Given the description of an element on the screen output the (x, y) to click on. 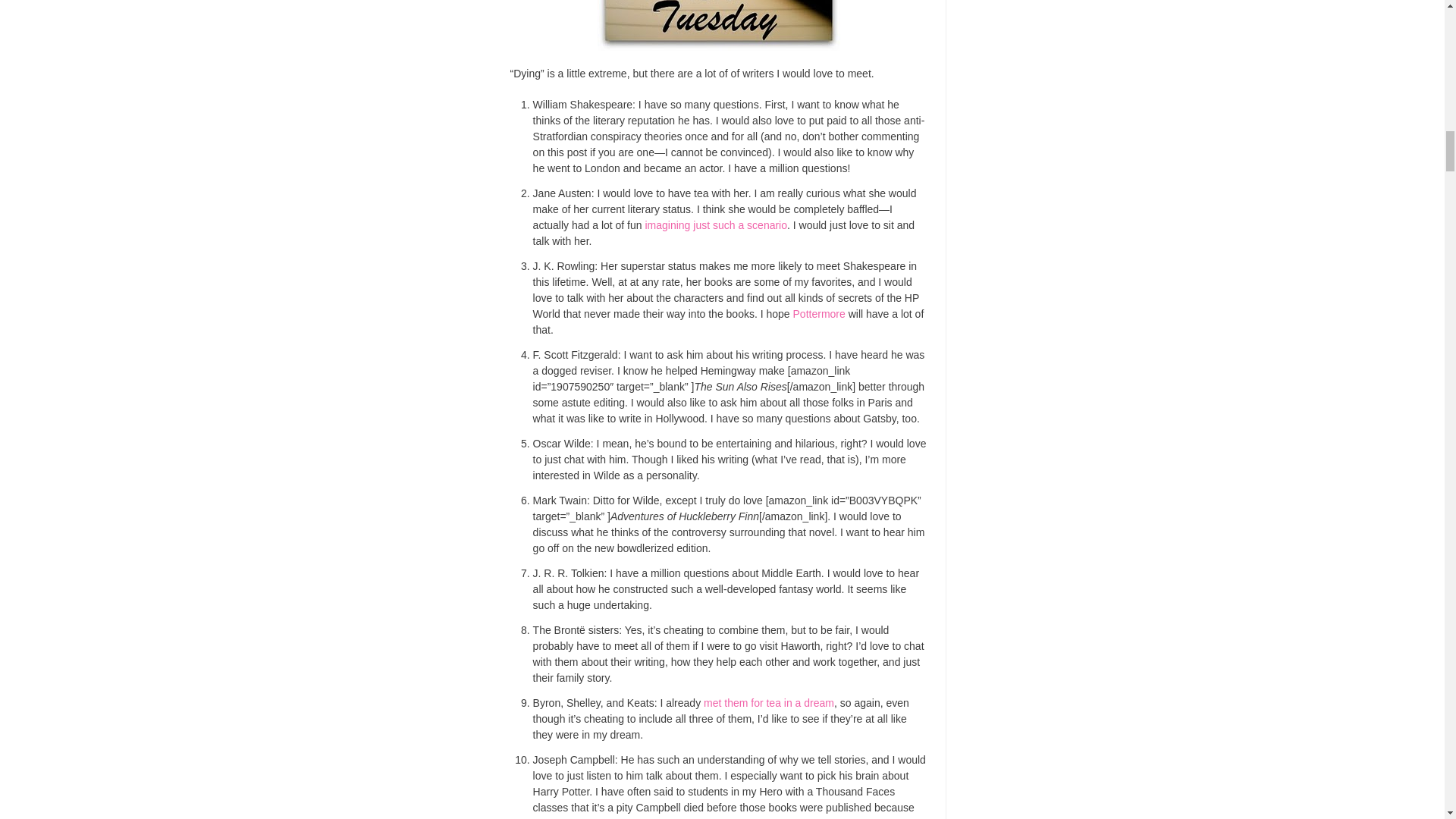
Dearest Cassandra (716, 224)
Pottermore (819, 313)
Weird Dreams (768, 702)
Top Ten Tuesday (718, 25)
